Given the description of an element on the screen output the (x, y) to click on. 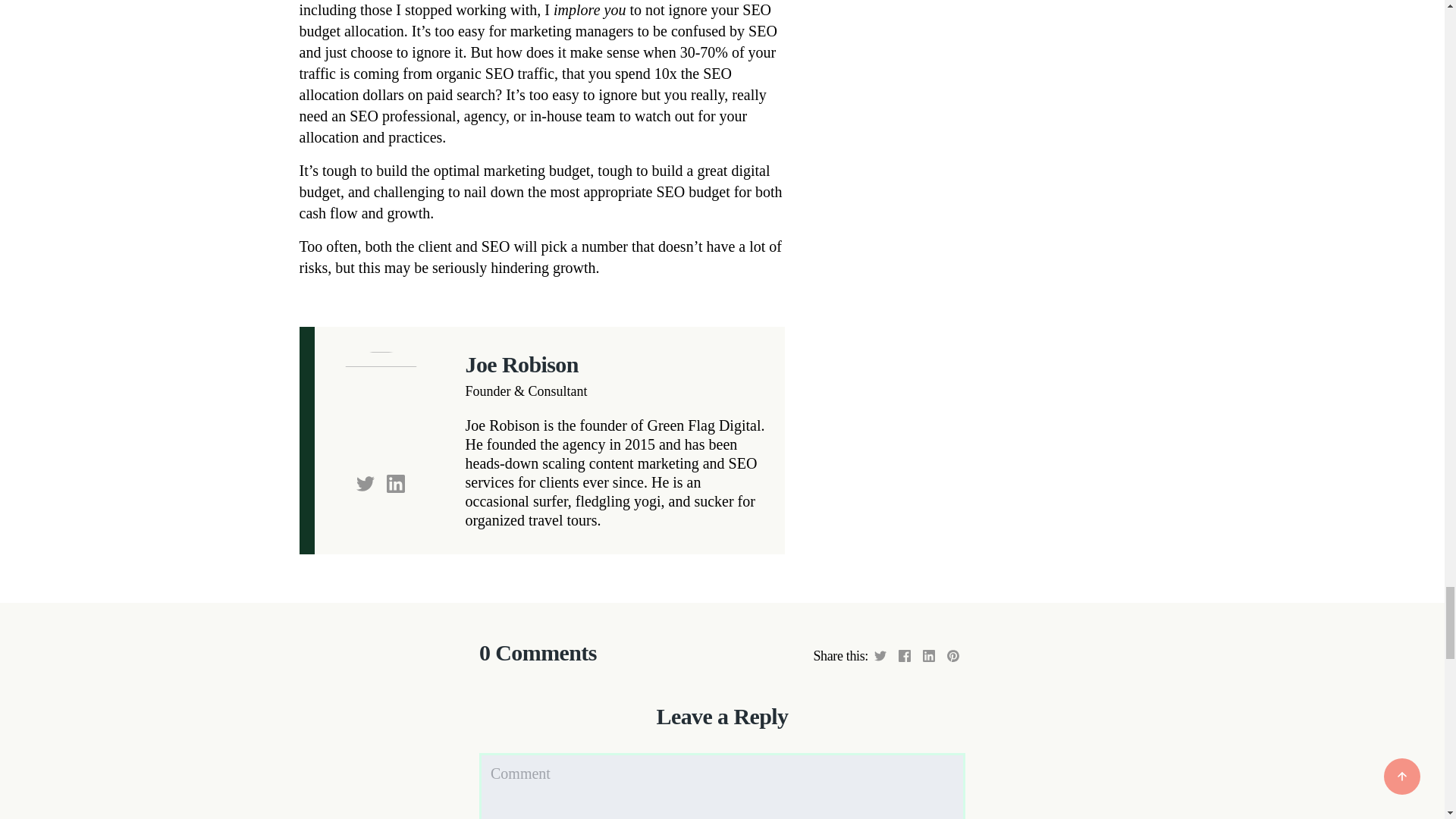
LinkedIn (395, 482)
LinkedIn icon (395, 484)
Twitter icon (365, 482)
LinkedIn icon (395, 482)
Twitter (365, 482)
Twitter icon (365, 484)
